Given the description of an element on the screen output the (x, y) to click on. 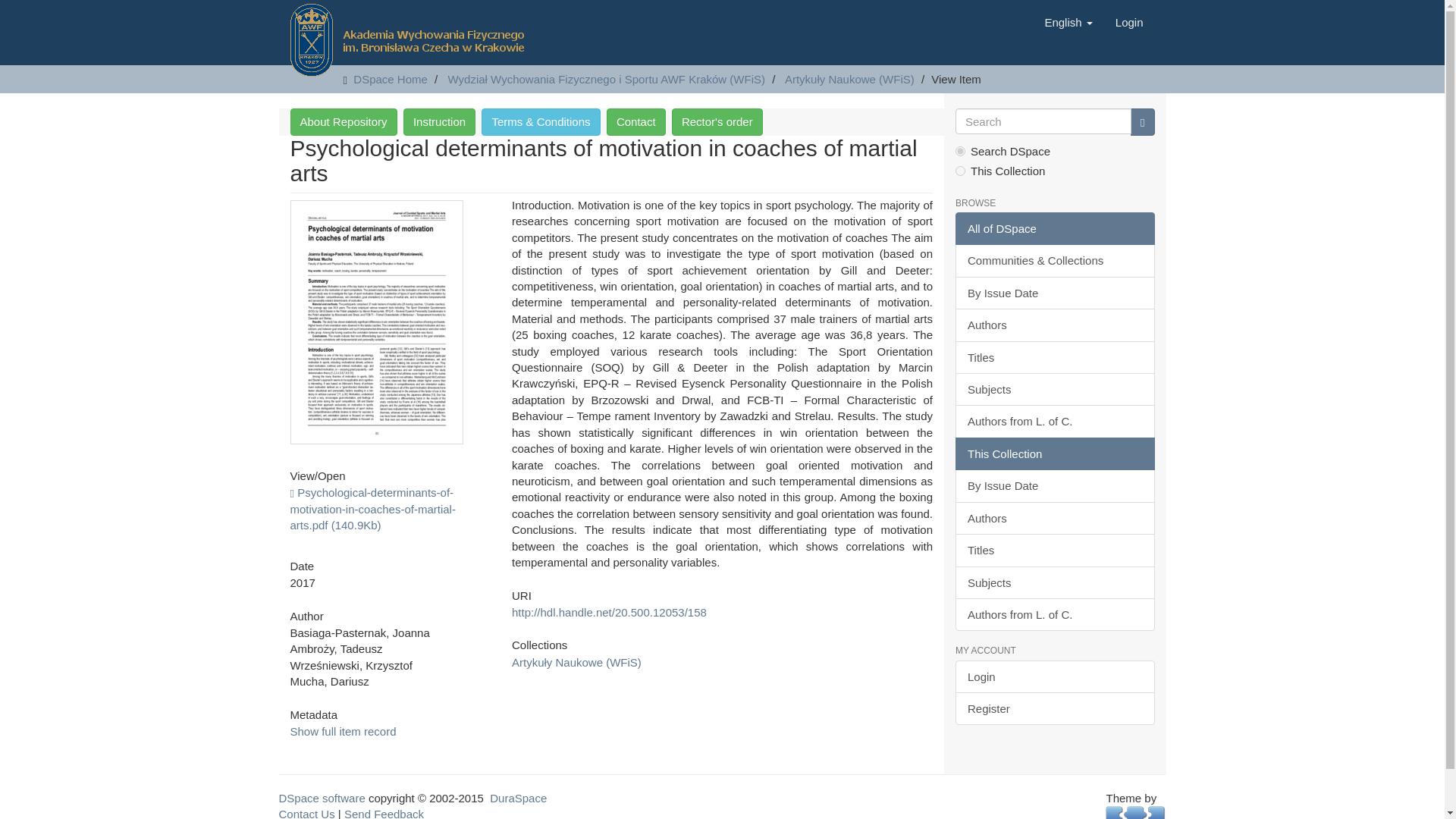
Rector's order (716, 121)
o repozytorium (342, 121)
instrukcja deponowania (439, 121)
regulamin (540, 121)
About Repository (342, 121)
Login (1128, 22)
All of DSpace (1054, 228)
English  (1067, 22)
Contact (636, 121)
Show full item record (342, 730)
DSpace Home (390, 78)
Instruction (439, 121)
By Issue Date (1054, 292)
kontakt (636, 121)
